Given the description of an element on the screen output the (x, y) to click on. 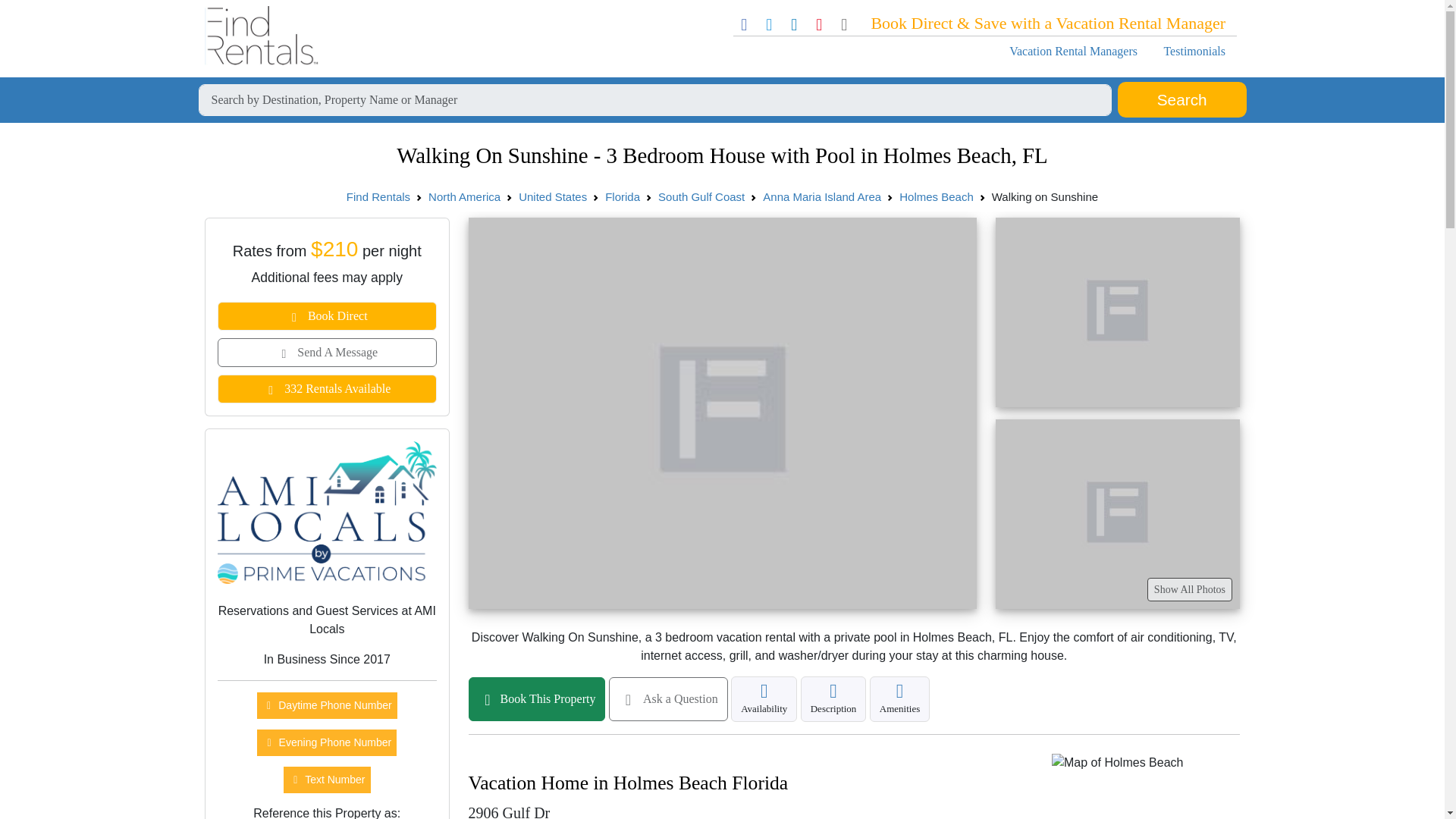
Living Room, Walking on Sunshine - AMI Locals (1116, 312)
Book Direct (326, 316)
South Gulf Coast (701, 196)
Find Rentals (378, 196)
Show All Photos (1189, 589)
Holmes Beach (936, 196)
Send A Message (326, 352)
Description (833, 698)
332 Rentals Available (326, 388)
Anna Maria Island Area (821, 196)
Florida (622, 196)
Amenities (899, 698)
North America (464, 196)
Search (1182, 99)
United States (552, 196)
